Given the description of an element on the screen output the (x, y) to click on. 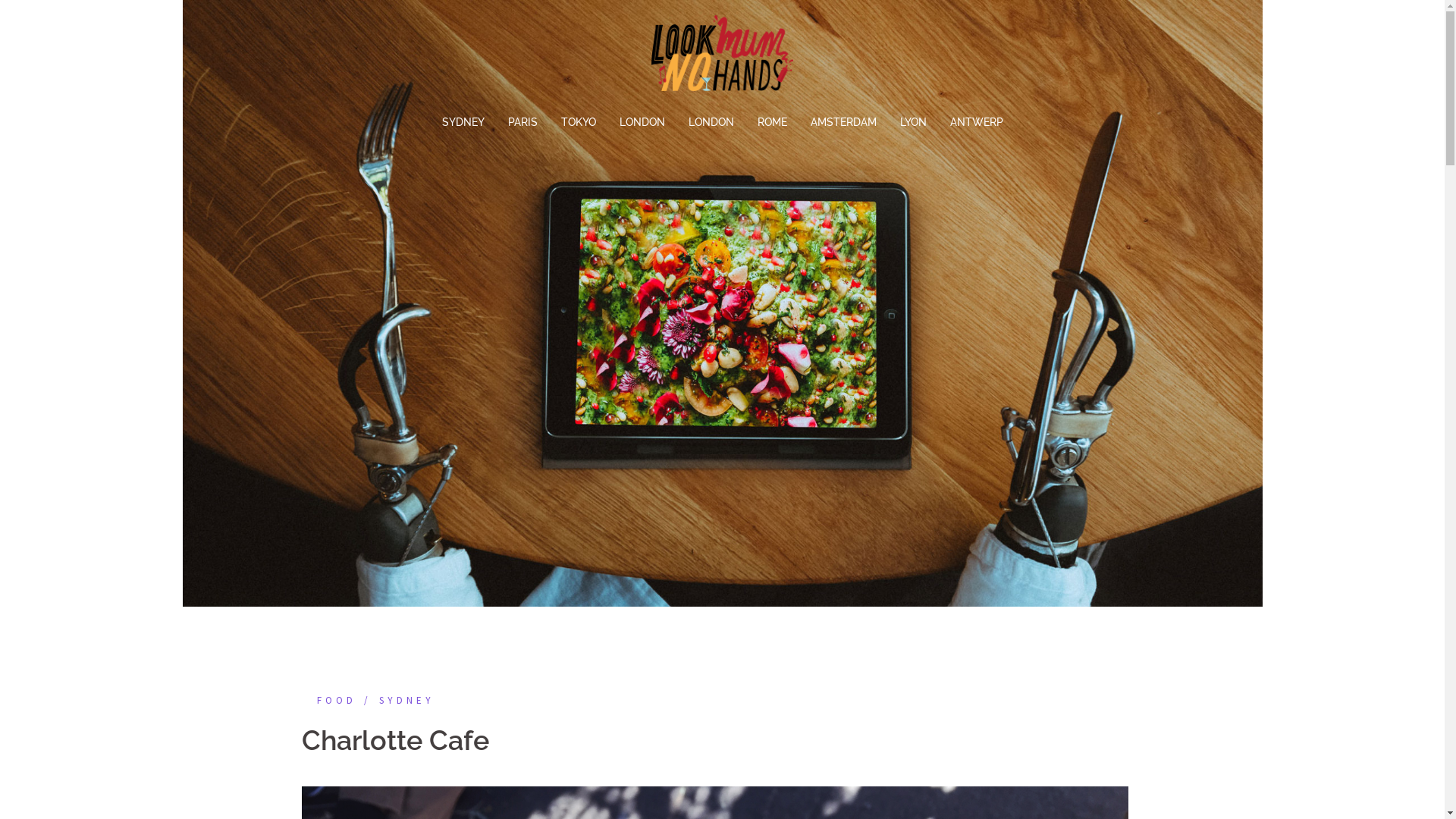
AMSTERDAM Element type: text (842, 122)
SYDNEY Element type: text (462, 122)
LONDON Element type: text (711, 122)
ROME Element type: text (771, 122)
Search Element type: text (46, 18)
Look Mum No Hands Element type: hover (722, 56)
FOOD Element type: text (328, 699)
PARIS Element type: text (522, 122)
LYON Element type: text (912, 122)
LONDON Element type: text (641, 122)
Skip to content Element type: text (0, 0)
SYDNEY Element type: text (395, 699)
ANTWERP Element type: text (975, 122)
TOKYO Element type: text (578, 122)
